Given the description of an element on the screen output the (x, y) to click on. 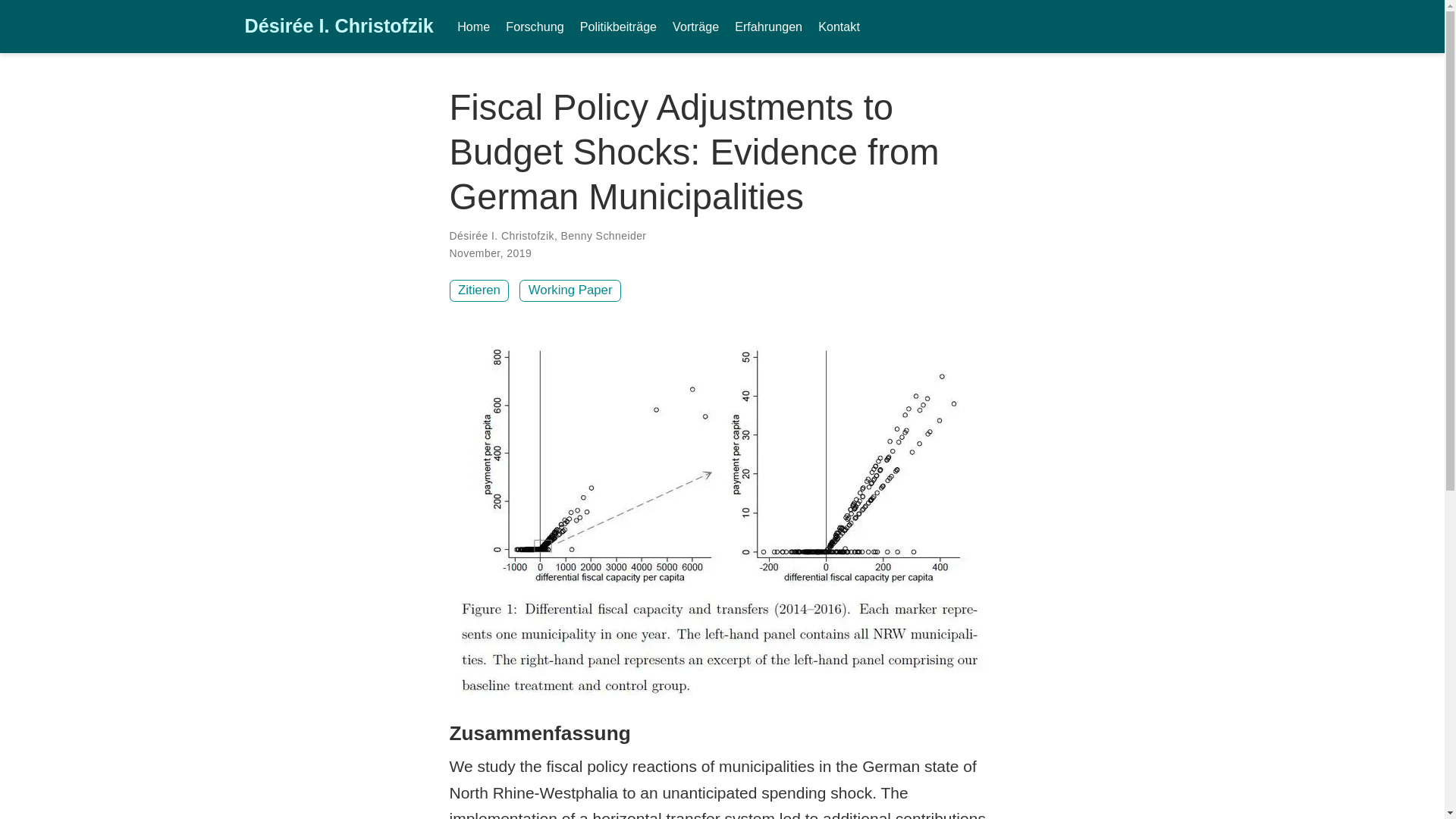
Zitieren (478, 291)
Erfahrungen (768, 25)
Home (473, 25)
Working Paper (570, 291)
Kontakt (838, 25)
Forschung (534, 25)
